Given the description of an element on the screen output the (x, y) to click on. 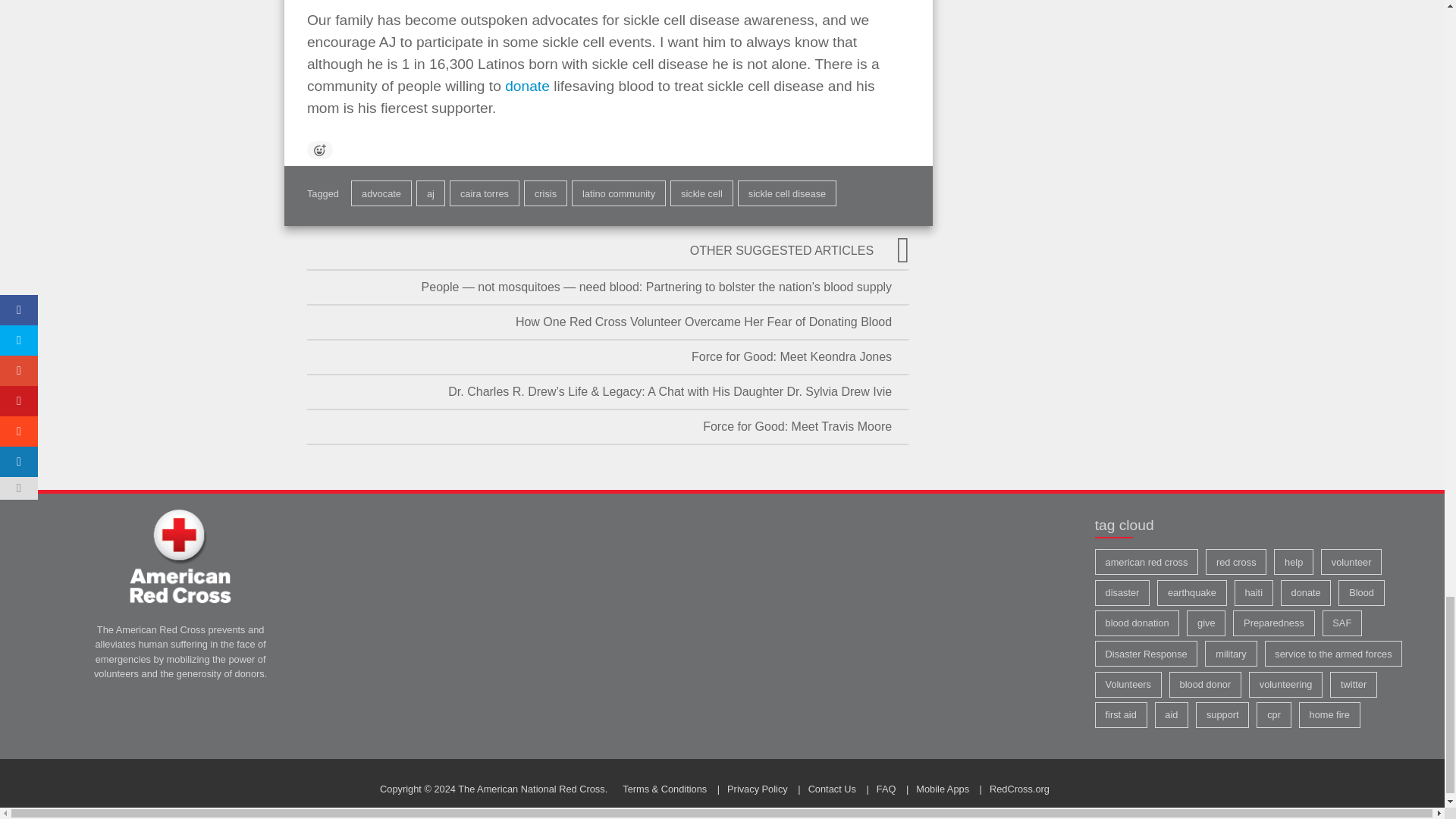
Force for Good: Meet Keondra Jones (607, 356)
sickle cell disease (786, 193)
Force for Good: Meet Travis Moore (607, 426)
advocate (381, 193)
sickle cell (700, 193)
donate (527, 85)
latino community (618, 193)
caira torres (484, 193)
Force for Good: Meet Travis Moore (607, 426)
crisis (545, 193)
